Given the description of an element on the screen output the (x, y) to click on. 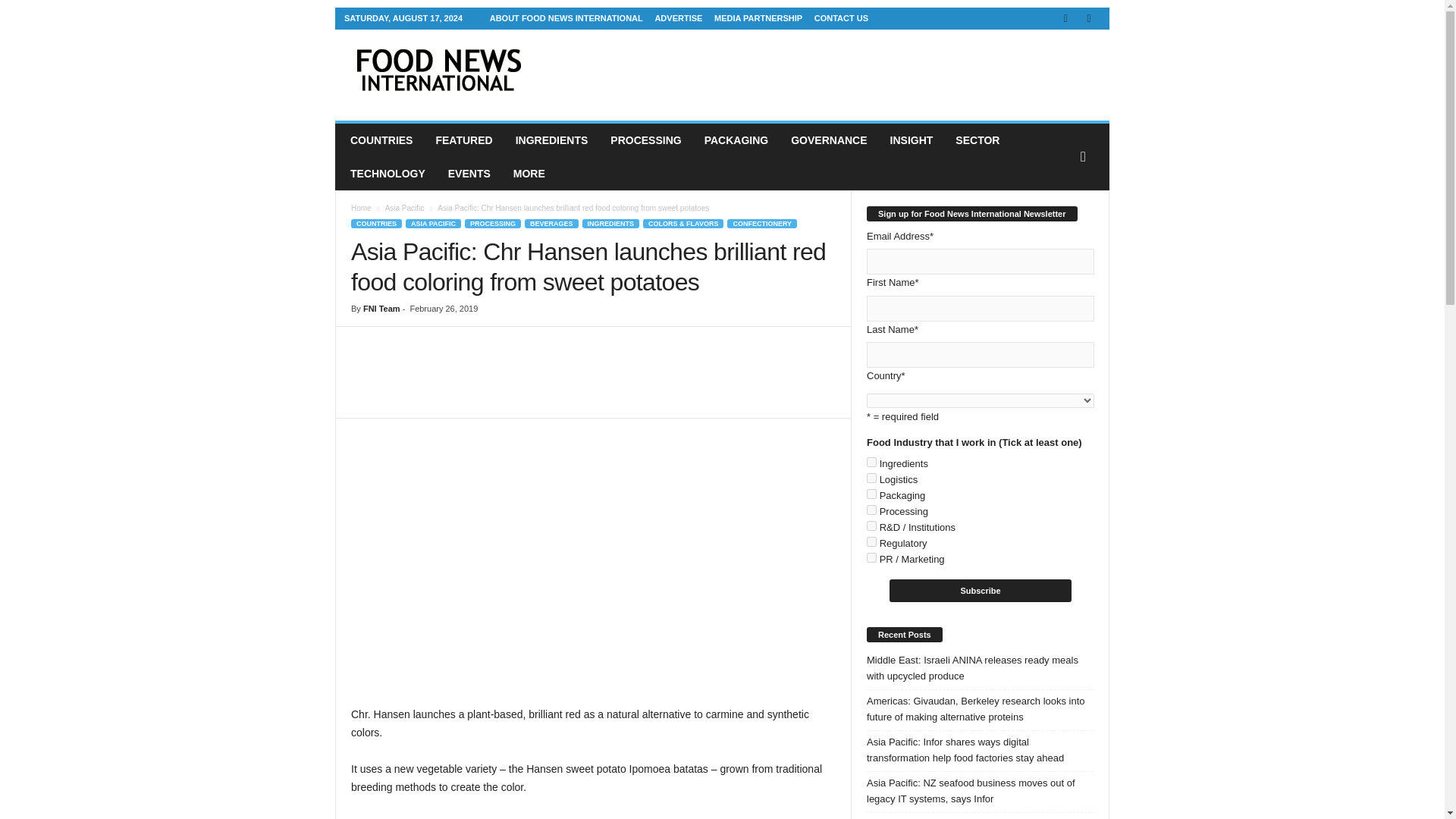
Subscribe (980, 590)
Packaging (871, 493)
Regulatory (871, 542)
Food News International (437, 71)
Processing (871, 510)
Ingredients (871, 461)
Logistics (871, 478)
